Given the description of an element on the screen output the (x, y) to click on. 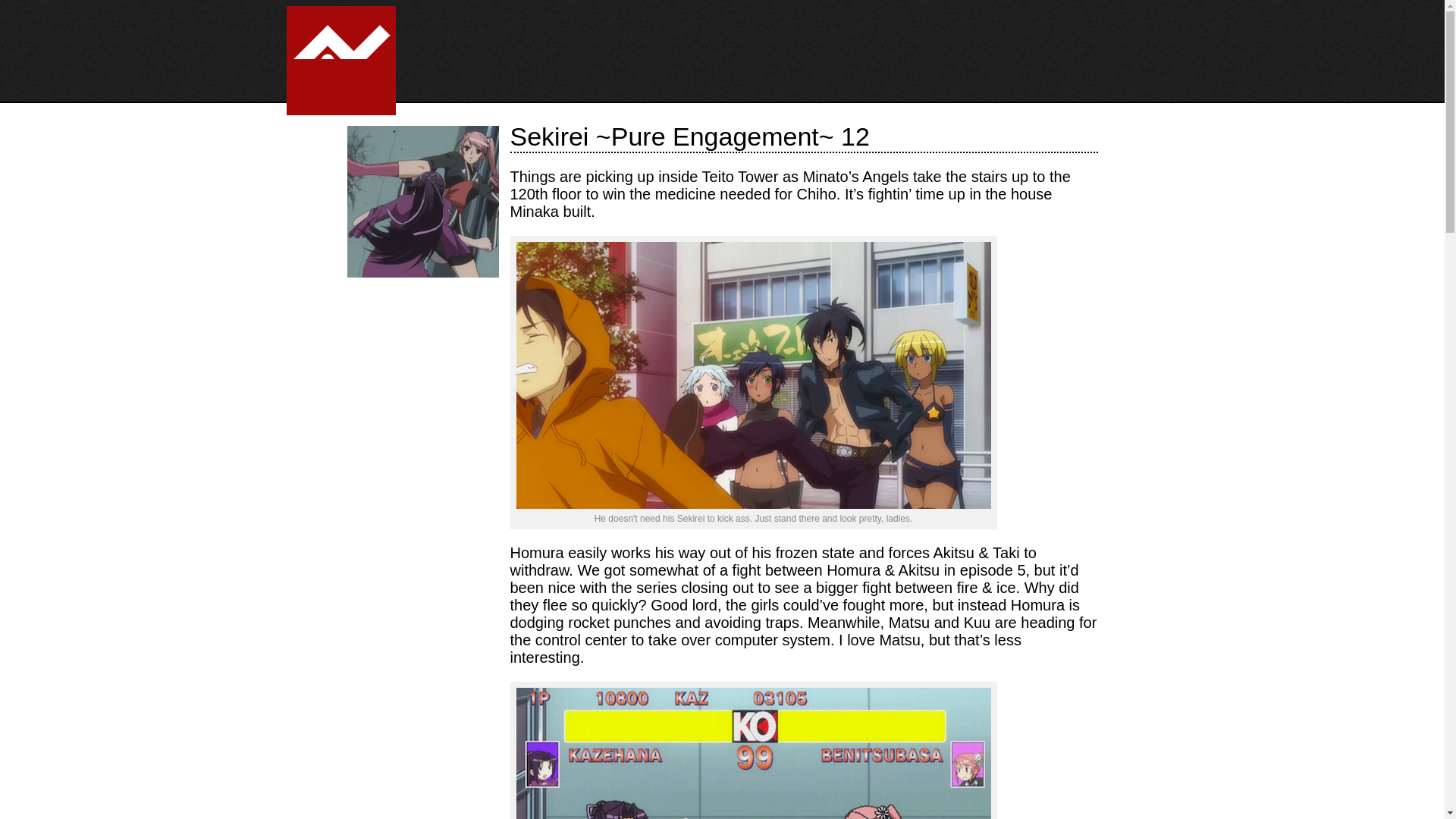
Fairy Tail - 48 (383, 333)
Fairy Tail - 47 (461, 333)
Sanada (752, 374)
